Given the description of an element on the screen output the (x, y) to click on. 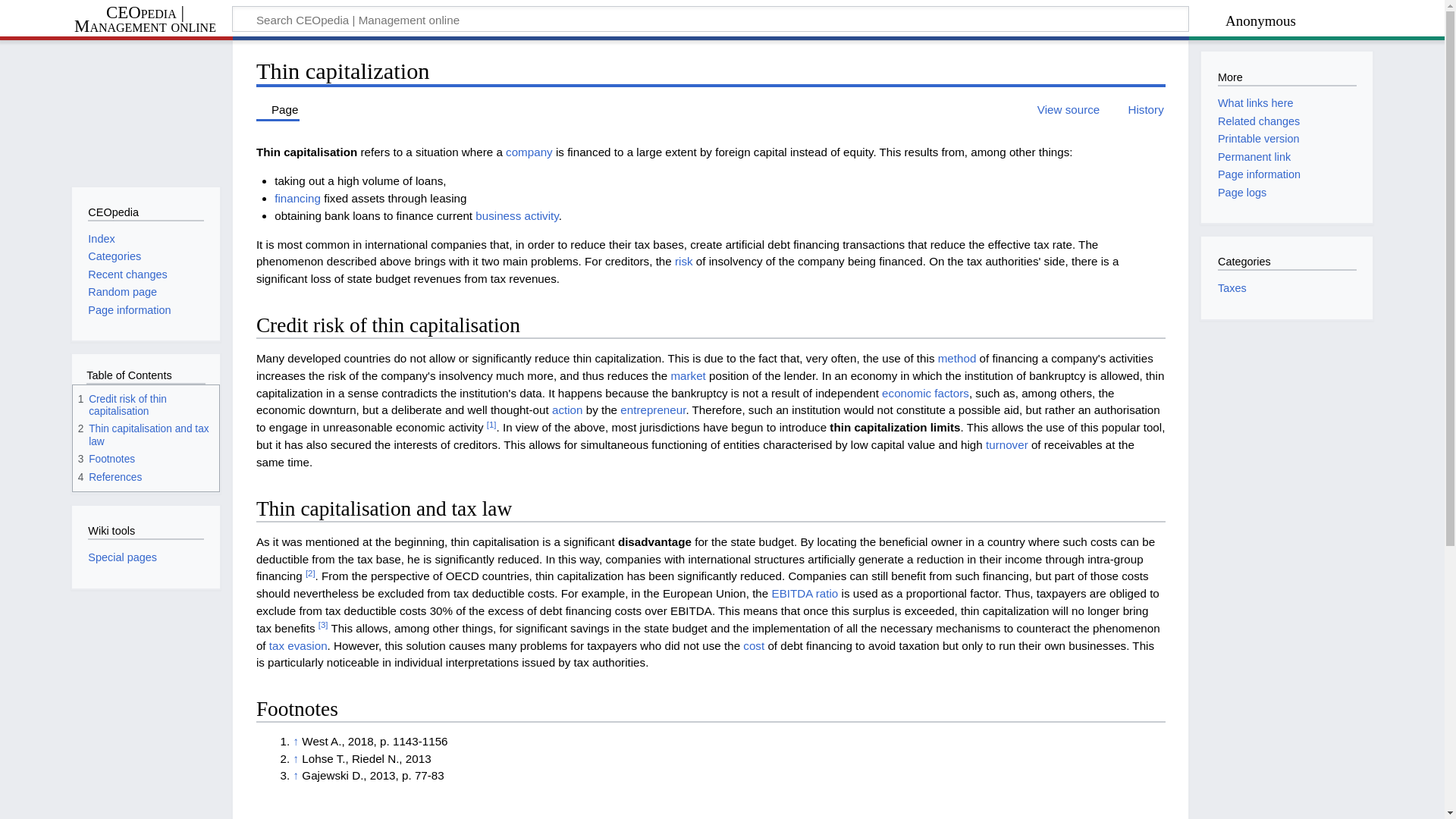
History (1138, 109)
View source (1061, 109)
Business activity (516, 215)
Company (529, 151)
Search the pages for this text (1155, 21)
Search (1155, 21)
method (956, 358)
action (567, 409)
tax evasion (298, 645)
company (529, 151)
Market (686, 375)
entrepreneur (652, 409)
economic factors (925, 392)
Page (277, 109)
EBITDA ratio (804, 593)
